Given the description of an element on the screen output the (x, y) to click on. 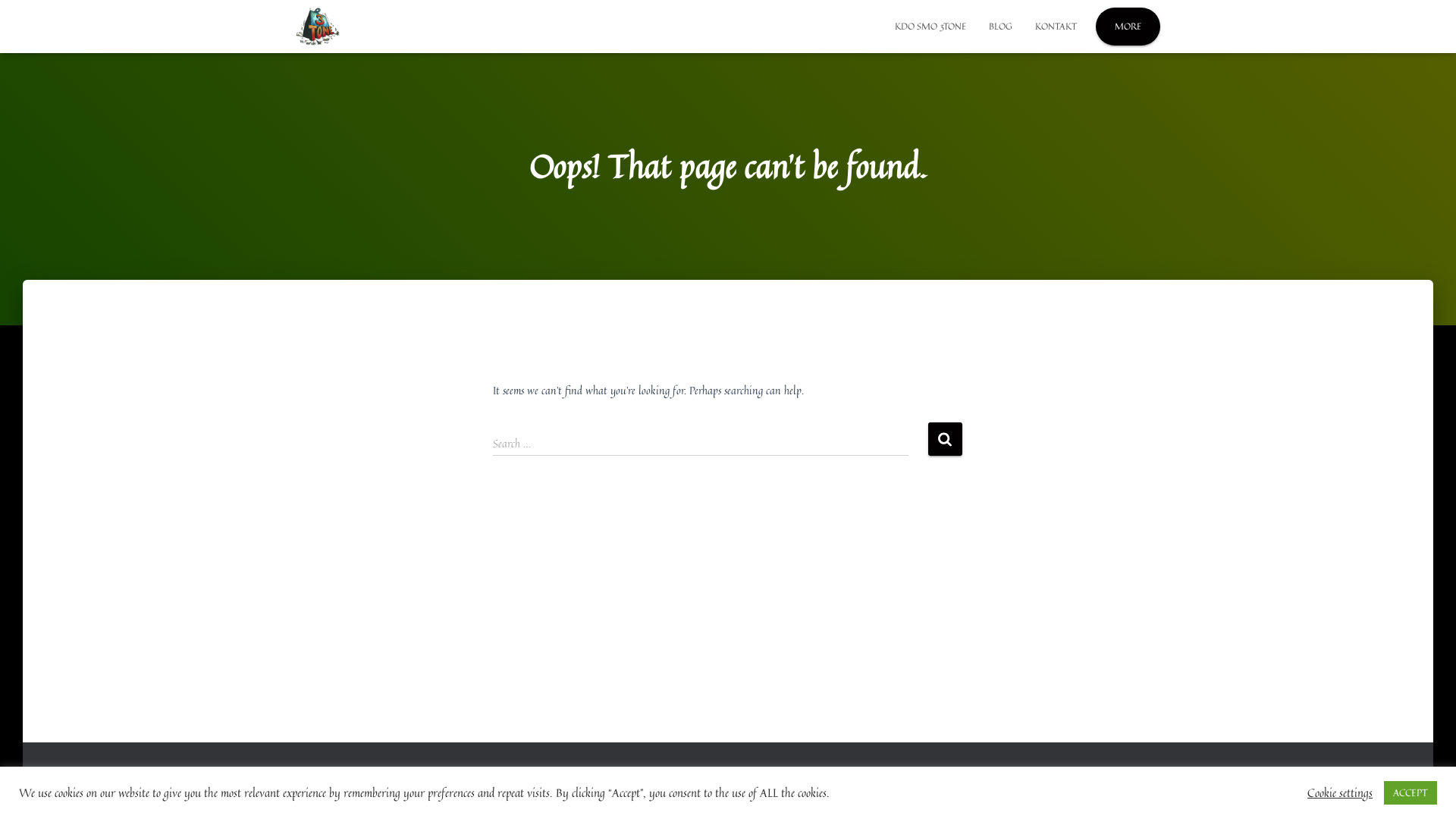
ThemeIsle Element type: text (1140, 784)
MORE Element type: text (1127, 26)
3TONE Element type: text (320, 783)
Cookie settings Element type: text (1339, 792)
KDO SMO 3TONE Element type: text (444, 783)
BLOG Element type: text (1000, 26)
KONTAKT Element type: text (526, 783)
Search Element type: text (945, 438)
KONTAKT Element type: text (1055, 26)
ACCEPT Element type: text (1410, 792)
BLOG Element type: text (371, 783)
3TONE Element type: hover (317, 26)
KDO SMO 3TONE Element type: text (930, 26)
